Given the description of an element on the screen output the (x, y) to click on. 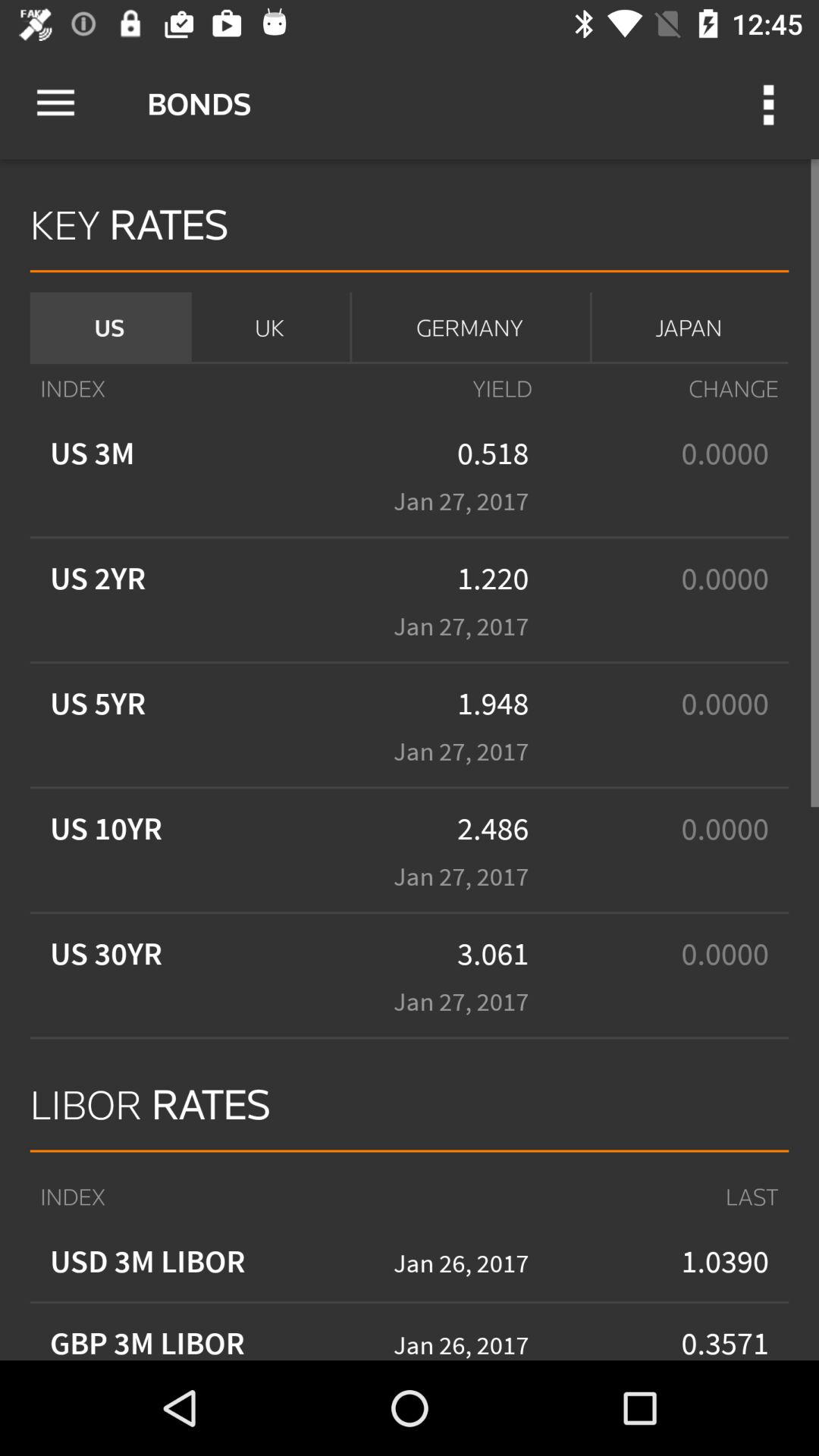
click on text uk (269, 328)
